Given the description of an element on the screen output the (x, y) to click on. 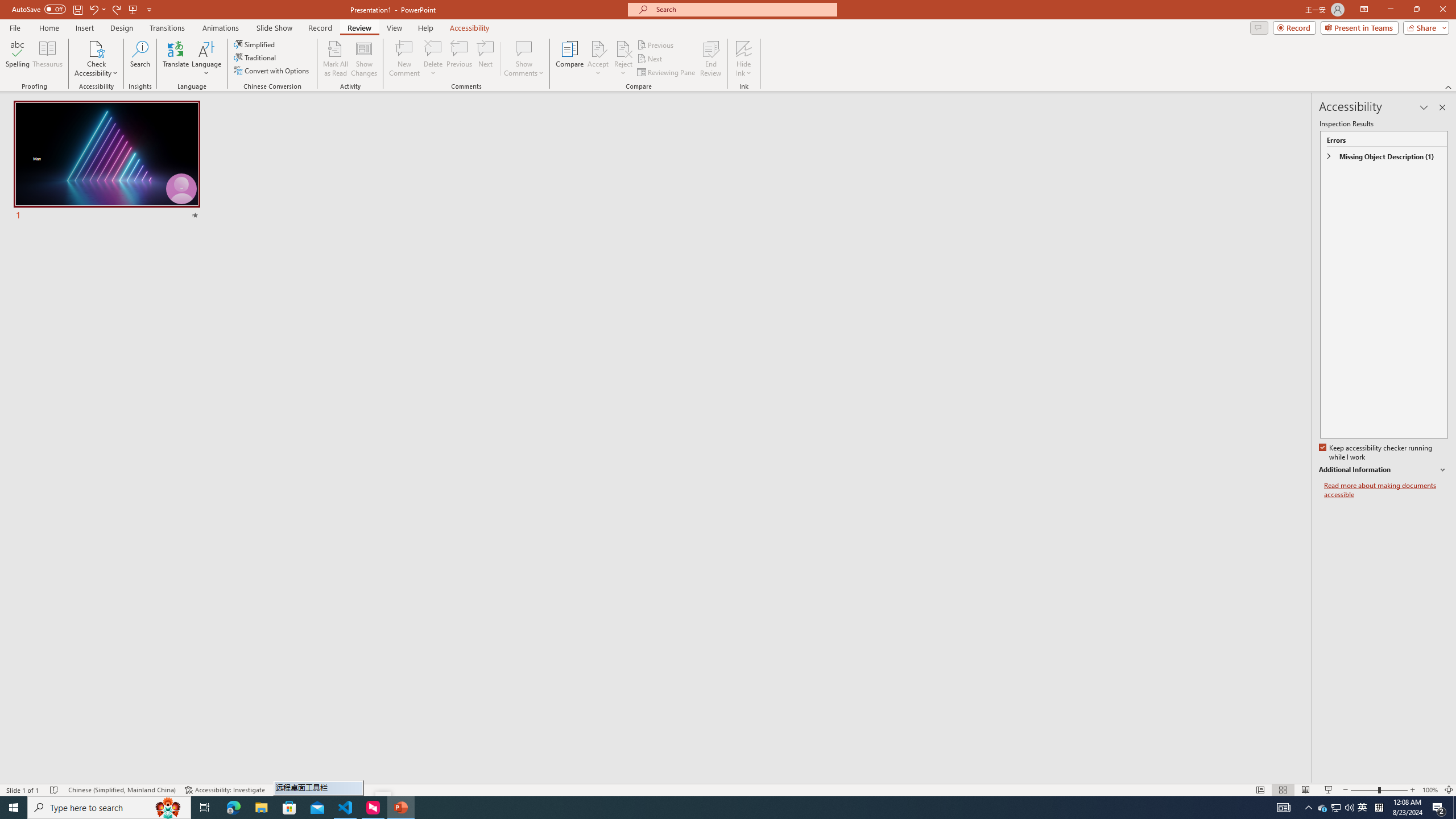
End Review (710, 58)
